Given the description of an element on the screen output the (x, y) to click on. 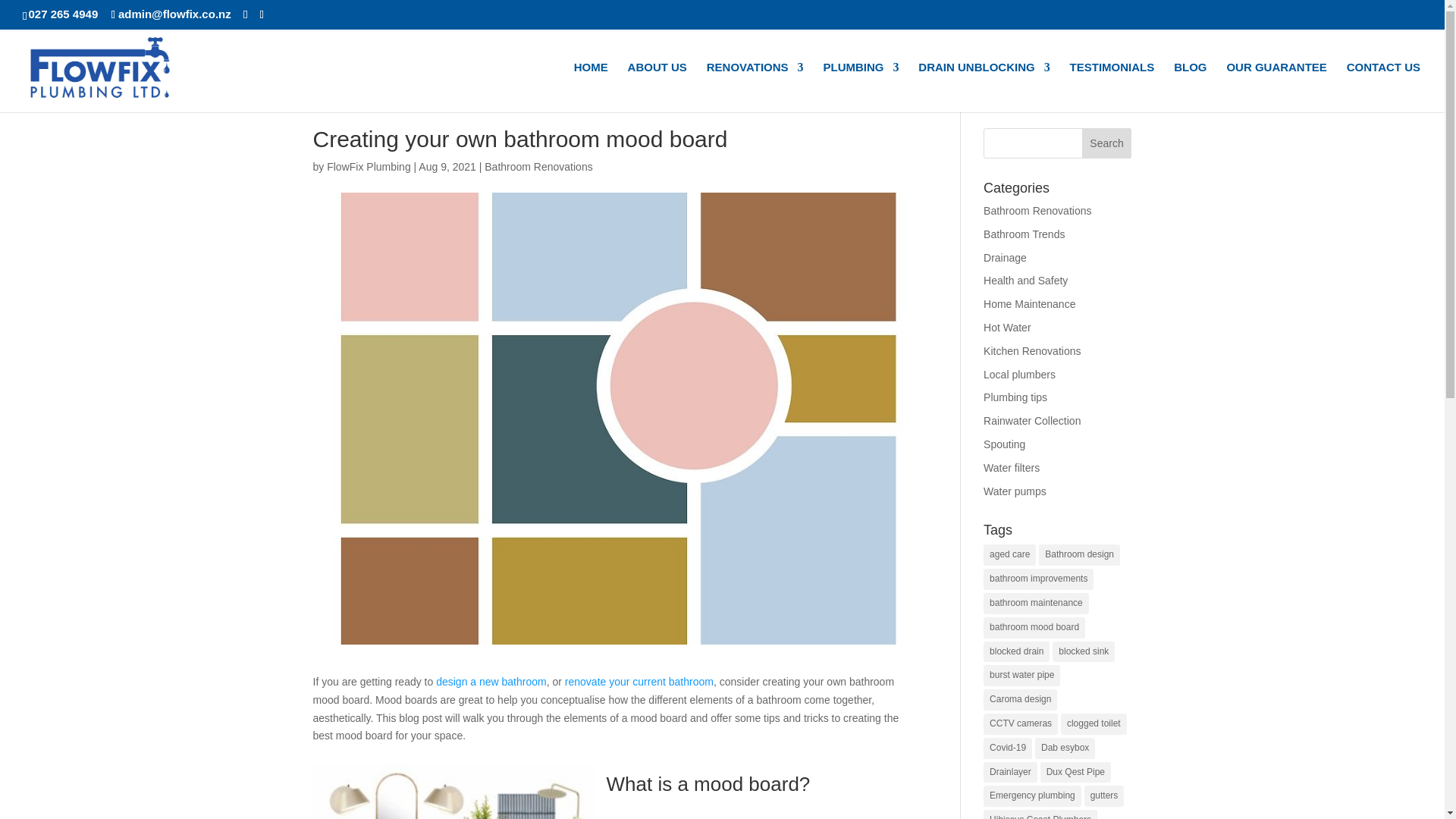
CONTACT US (1383, 87)
RENOVATIONS (754, 87)
design a new bathroom (491, 681)
Drainage (1005, 257)
TESTIMONIALS (1112, 87)
FlowFix Plumbing (368, 166)
Search (1106, 142)
Search (1106, 142)
Bathroom Renovations (538, 166)
ABOUT US (657, 87)
